Given the description of an element on the screen output the (x, y) to click on. 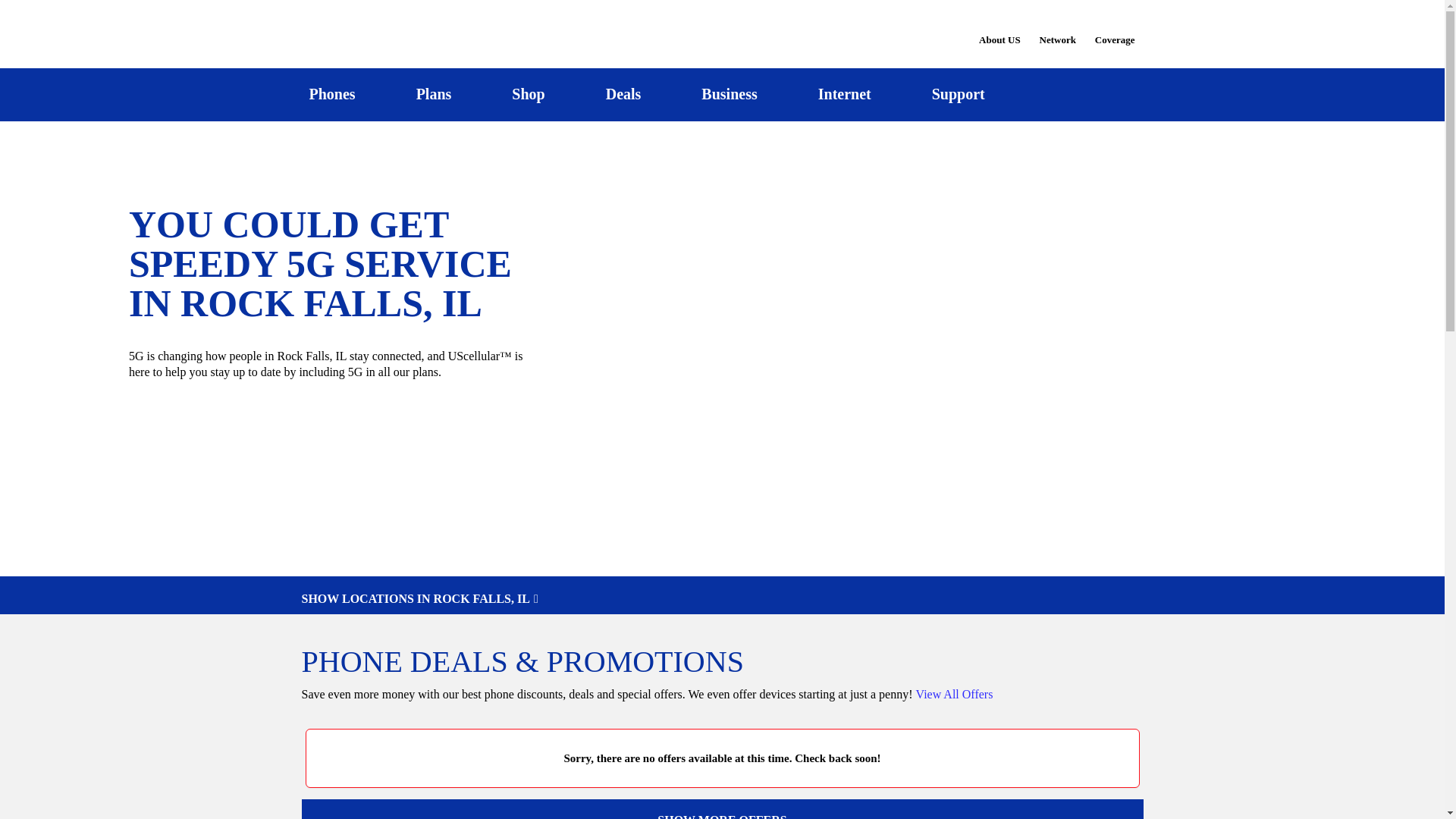
SHOW LOCATIONS IN ROCK FALLS, IL (722, 598)
Internet (844, 94)
About US (999, 30)
Deals (623, 94)
Coverage (1115, 29)
Business (729, 94)
Shop (528, 94)
Support (957, 94)
Phones (332, 94)
Plans (433, 94)
Network (1057, 30)
